Given the description of an element on the screen output the (x, y) to click on. 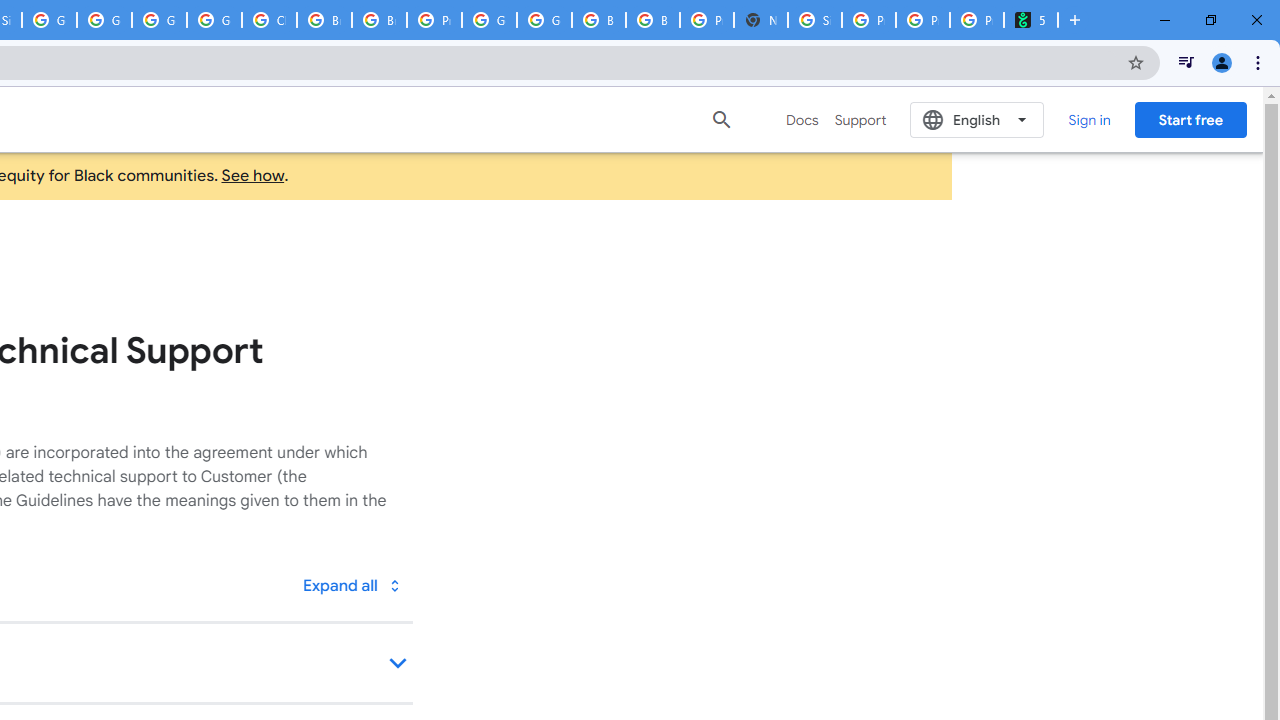
Docs (802, 119)
